Given the description of an element on the screen output the (x, y) to click on. 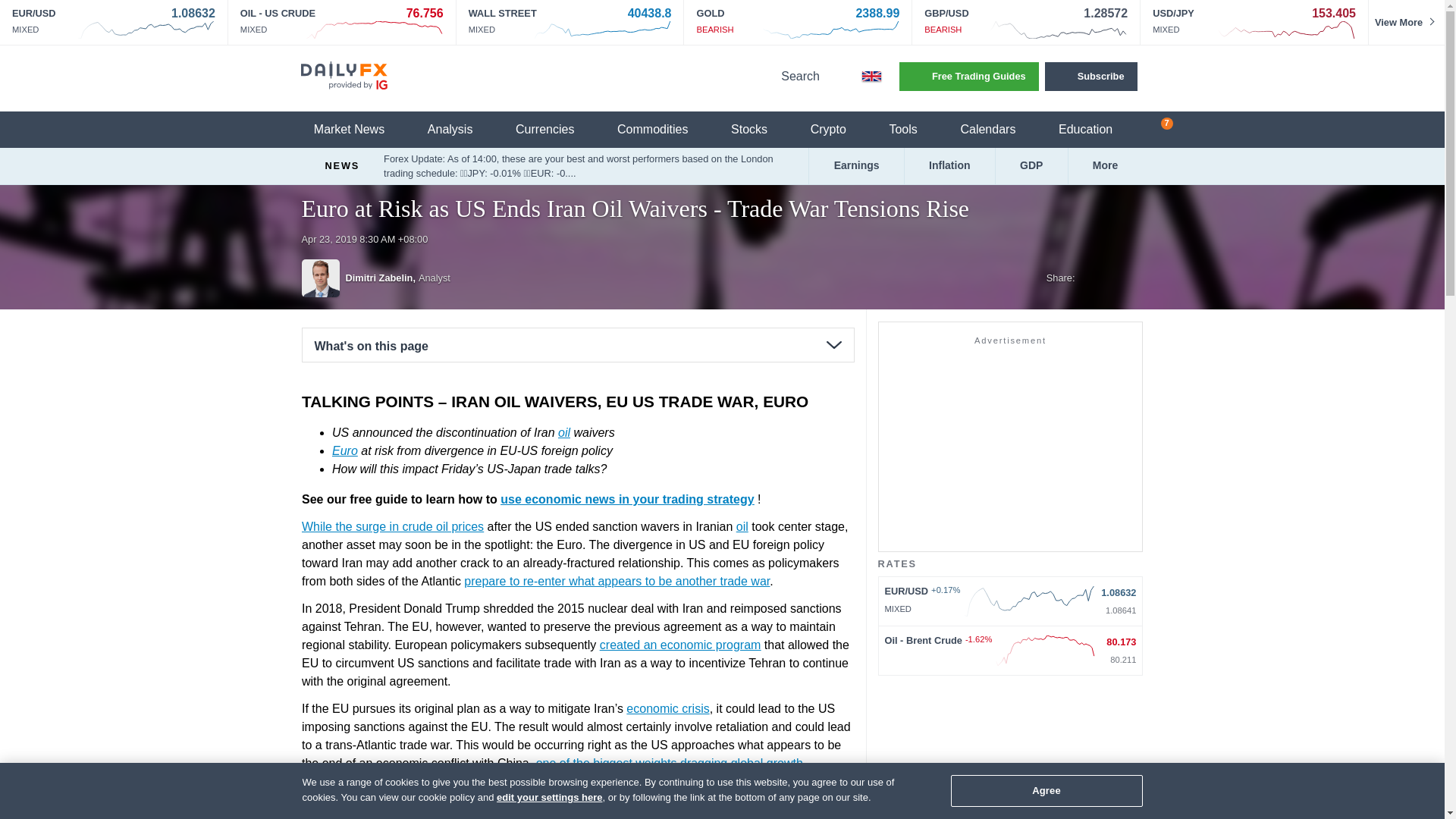
oil (563, 431)
economic crisis (667, 707)
Euro (344, 450)
Free Trading Guides (969, 76)
oil (741, 526)
Analysis (458, 129)
Market News (357, 129)
Subscribe (1091, 76)
Currencies (554, 129)
